Given the description of an element on the screen output the (x, y) to click on. 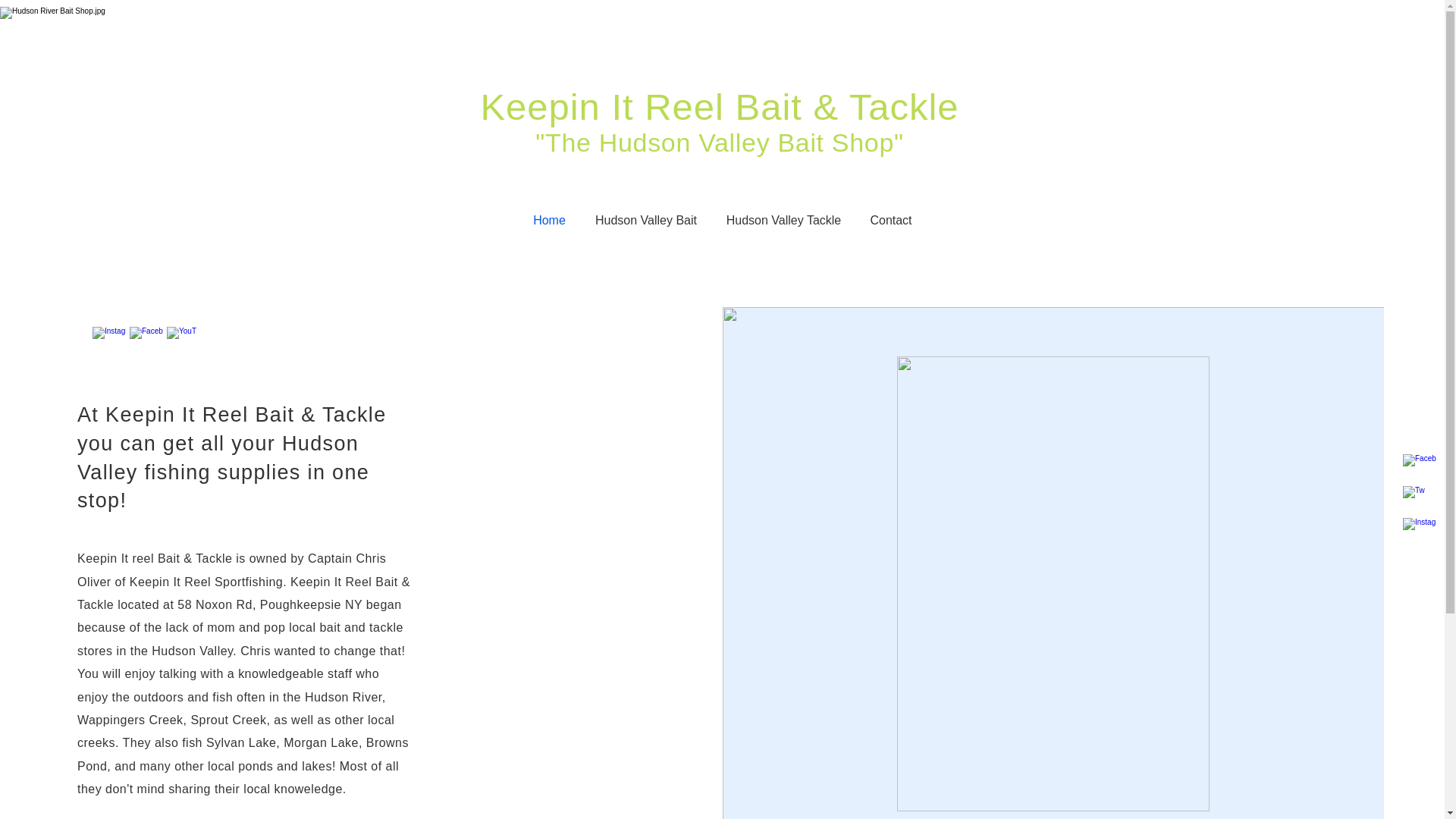
Contact (891, 220)
Hudson Valley Bait (645, 220)
Hudson Valley Tackle (783, 220)
Home (549, 220)
